Given the description of an element on the screen output the (x, y) to click on. 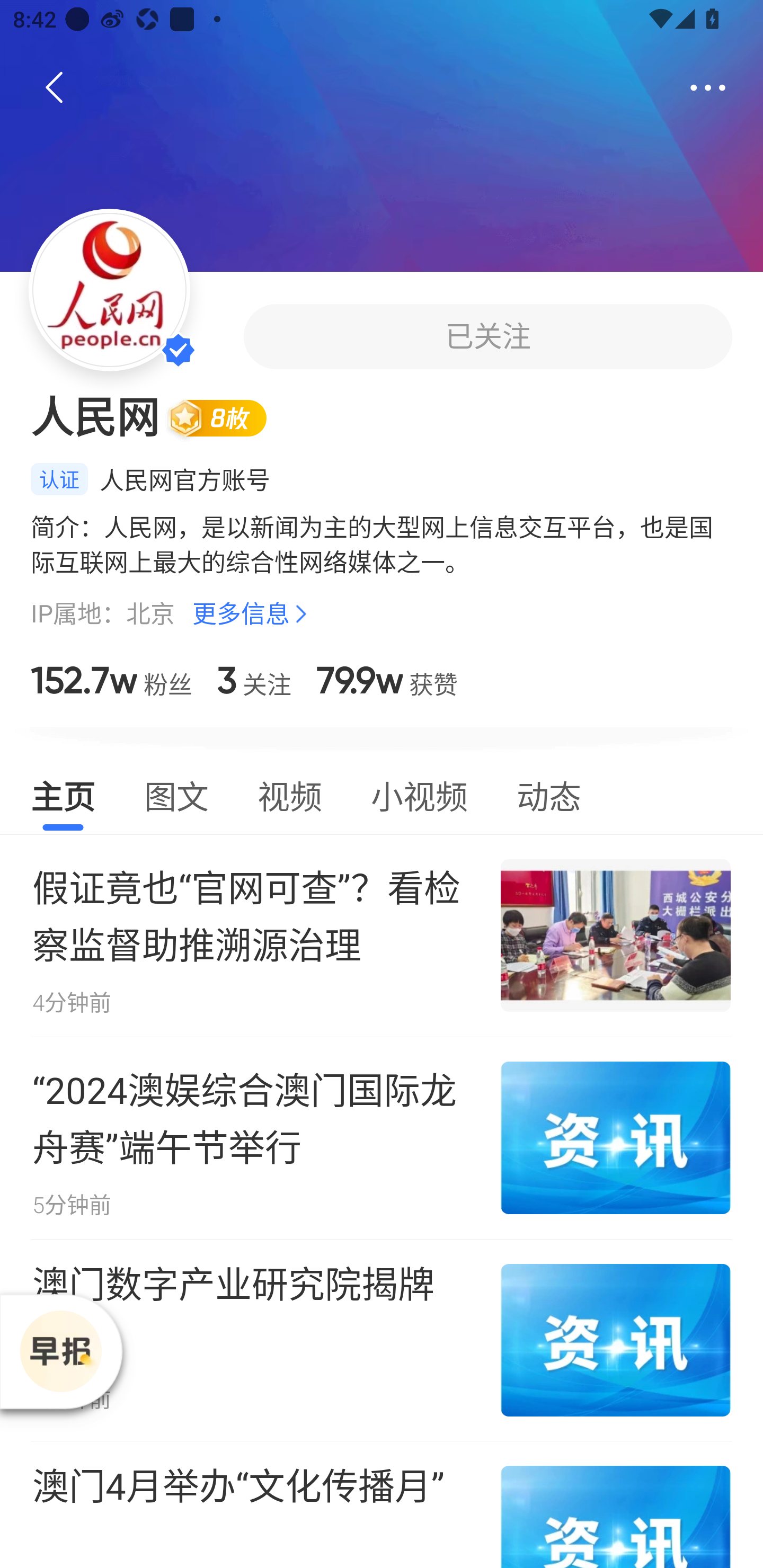
 返回 (54, 87)
 更多 (707, 87)
已关注 (487, 336)
8枚 (224, 417)
认证 (58, 478)
简介：人民网，是以新闻为主的大型网上信息交互平台，也是国际互联网上最大的综合性网络媒体之一。 (381, 543)
152.7w 粉丝 (111, 680)
3 关注 (253, 680)
79.9w 获赞 (386, 680)
主页 (62, 793)
图文 (176, 793)
视频 (289, 793)
小视频 (419, 793)
动态 (548, 793)
假证竟也“官网可查”？看检察监督助推溯源治理 4分钟前 (381, 935)
“2024澳娱综合澳门国际龙舟赛”端午节举行 5分钟前 (381, 1137)
澳门数字产业研究院揭牌 5分钟前 (381, 1340)
播放器 (60, 1351)
澳门4月举办“文化传播月” (381, 1504)
